Given the description of an element on the screen output the (x, y) to click on. 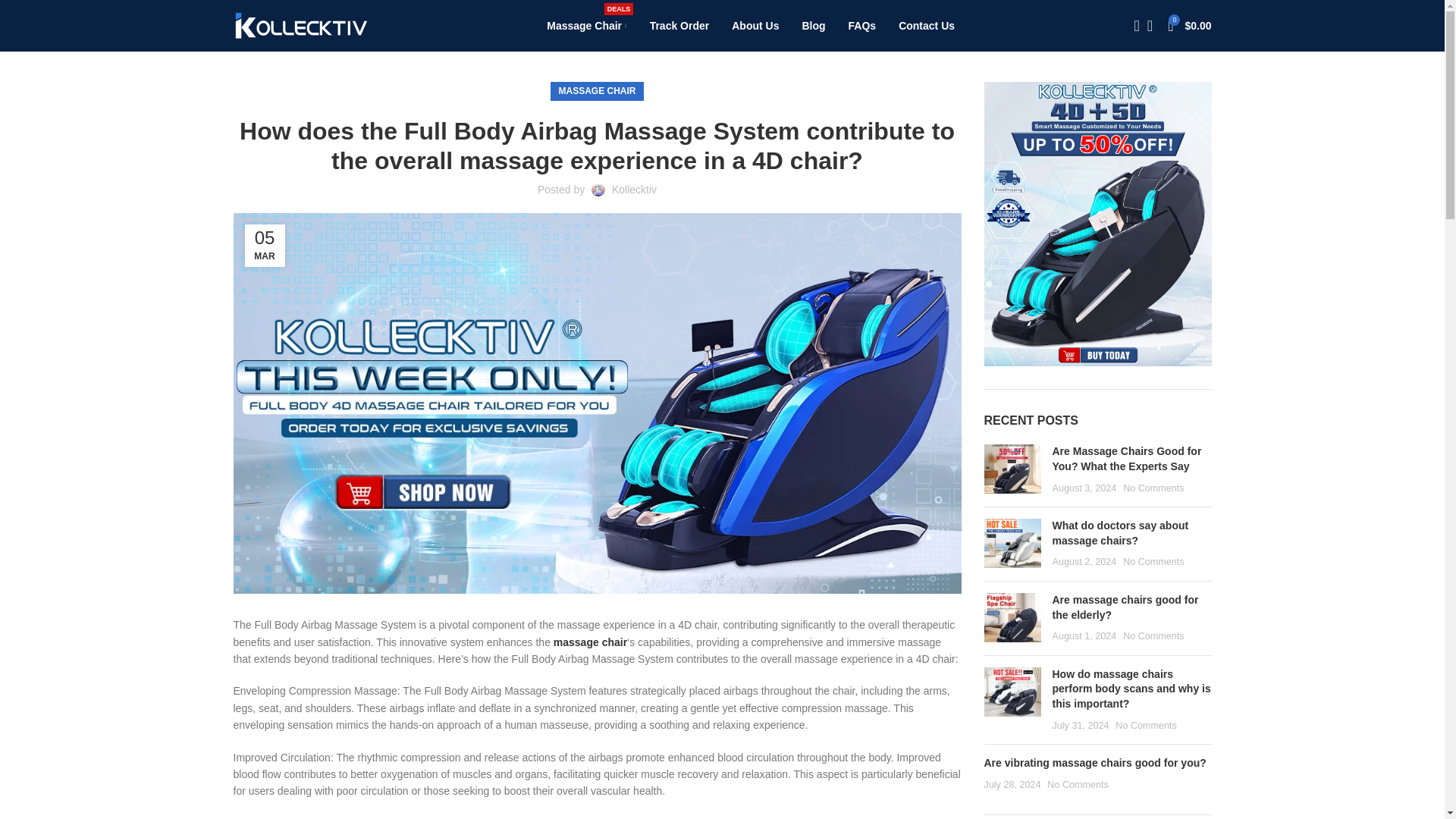
Track Order (679, 25)
Contact Us (926, 25)
massage chair (590, 642)
About Us (755, 25)
FAQs (862, 25)
Kollecktiv (586, 25)
MASSAGE CHAIR (633, 189)
